Given the description of an element on the screen output the (x, y) to click on. 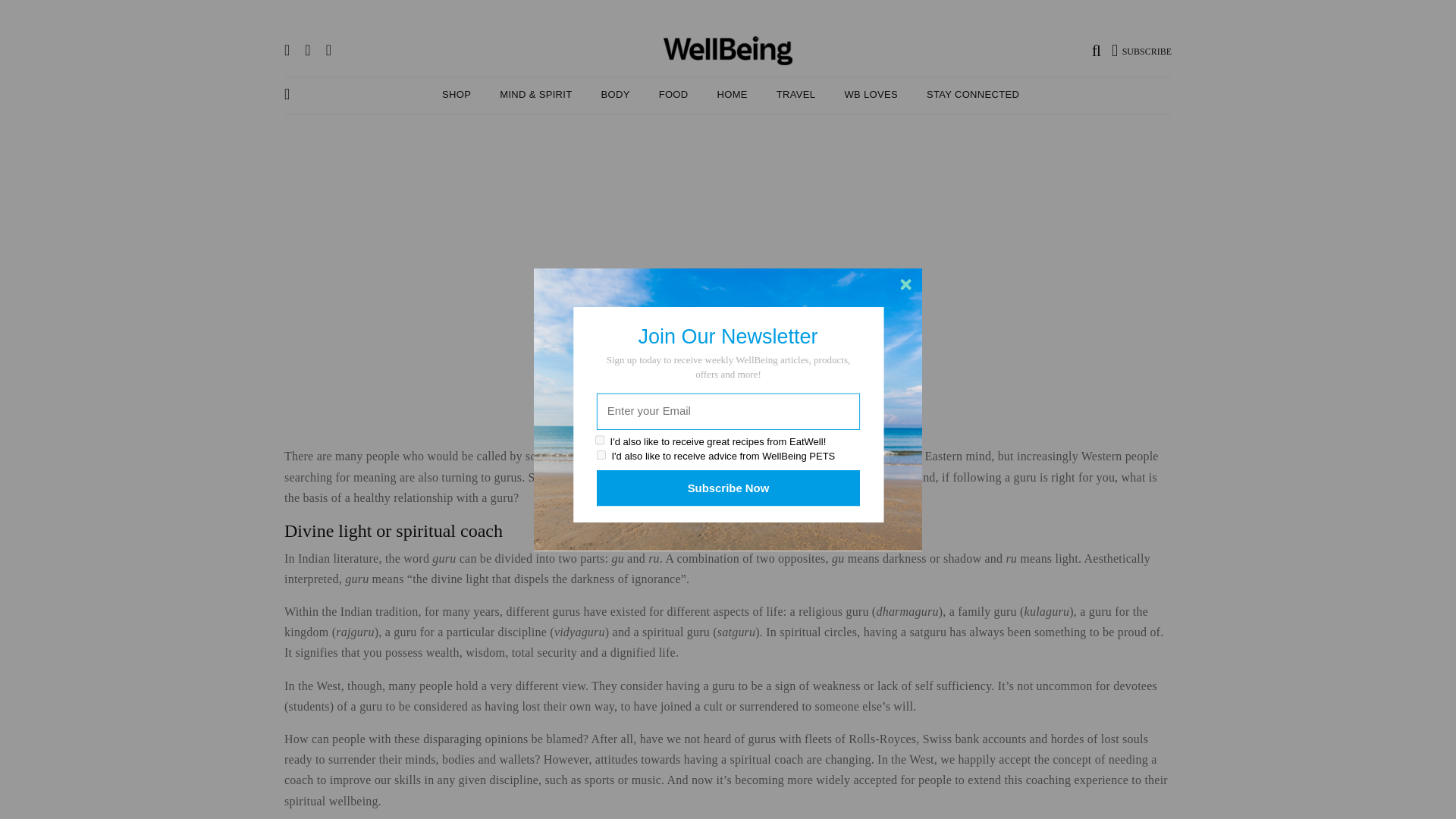
STAY CONNECTED (972, 94)
on (600, 439)
WB Loves (871, 94)
on (601, 455)
3rd party ad content (727, 193)
BODY (613, 94)
FOOD (673, 94)
SHOP (456, 94)
Home (732, 94)
HOME (732, 94)
Body (613, 94)
TRAVEL (795, 94)
SUBSCRIBE (1142, 48)
Stay Connected (972, 94)
WB LOVES (871, 94)
